Given the description of an element on the screen output the (x, y) to click on. 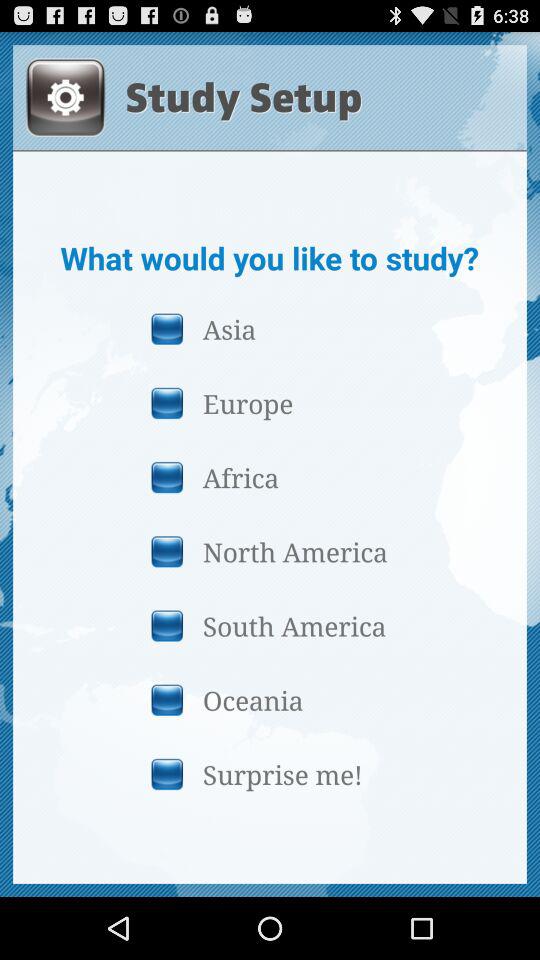
select icon below the africa button (269, 551)
